Given the description of an element on the screen output the (x, y) to click on. 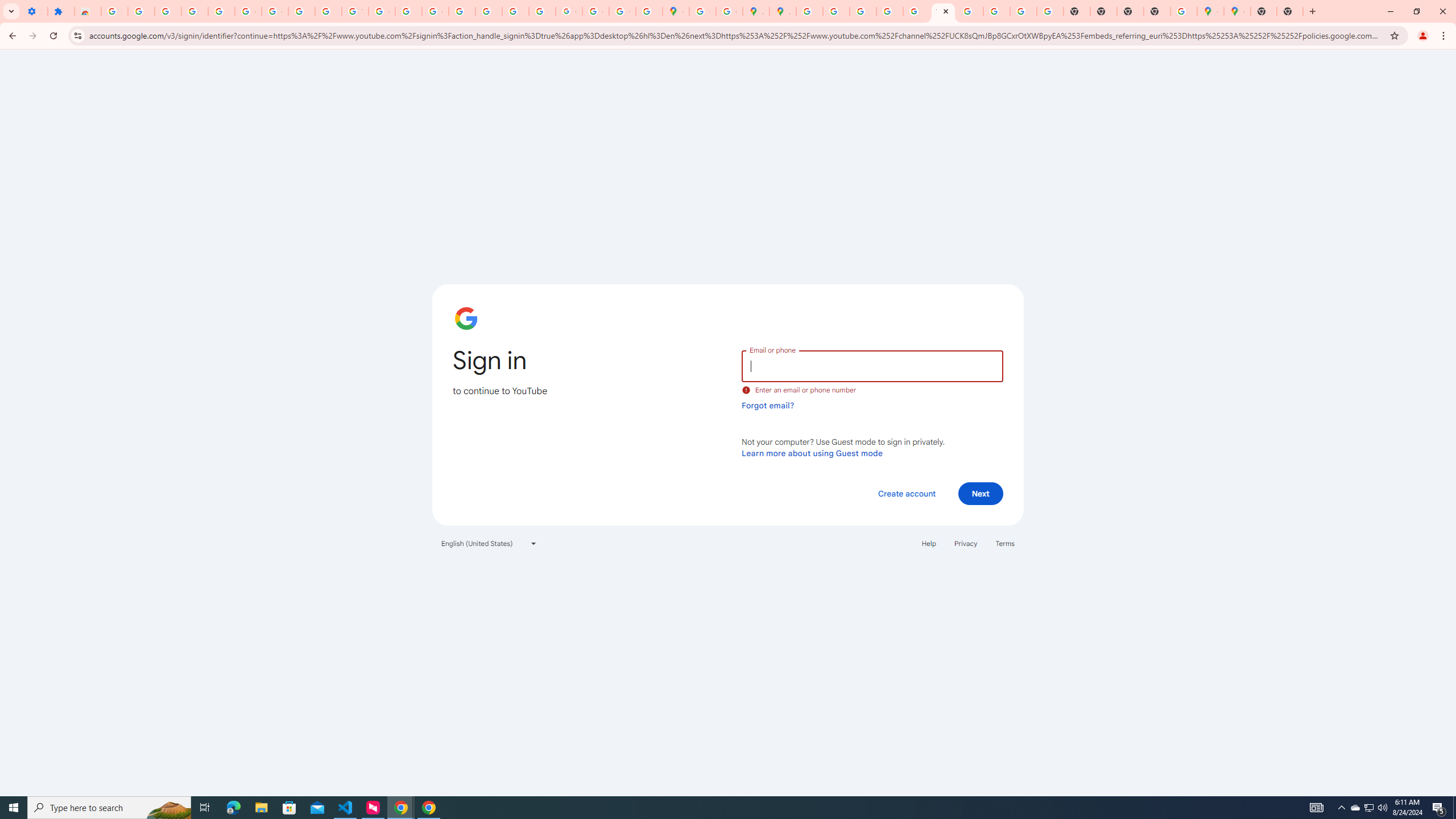
Next (980, 493)
Google Maps (676, 11)
New Tab (1289, 11)
Settings - On startup (34, 11)
Delete photos & videos - Computer - Google Photos Help (141, 11)
English (United States) (489, 542)
Sign in - Google Accounts (702, 11)
Email or phone (871, 365)
Use Google Maps in Space - Google Maps Help (1183, 11)
Sign in - Google Accounts (114, 11)
Google Account Help (248, 11)
